Given the description of an element on the screen output the (x, y) to click on. 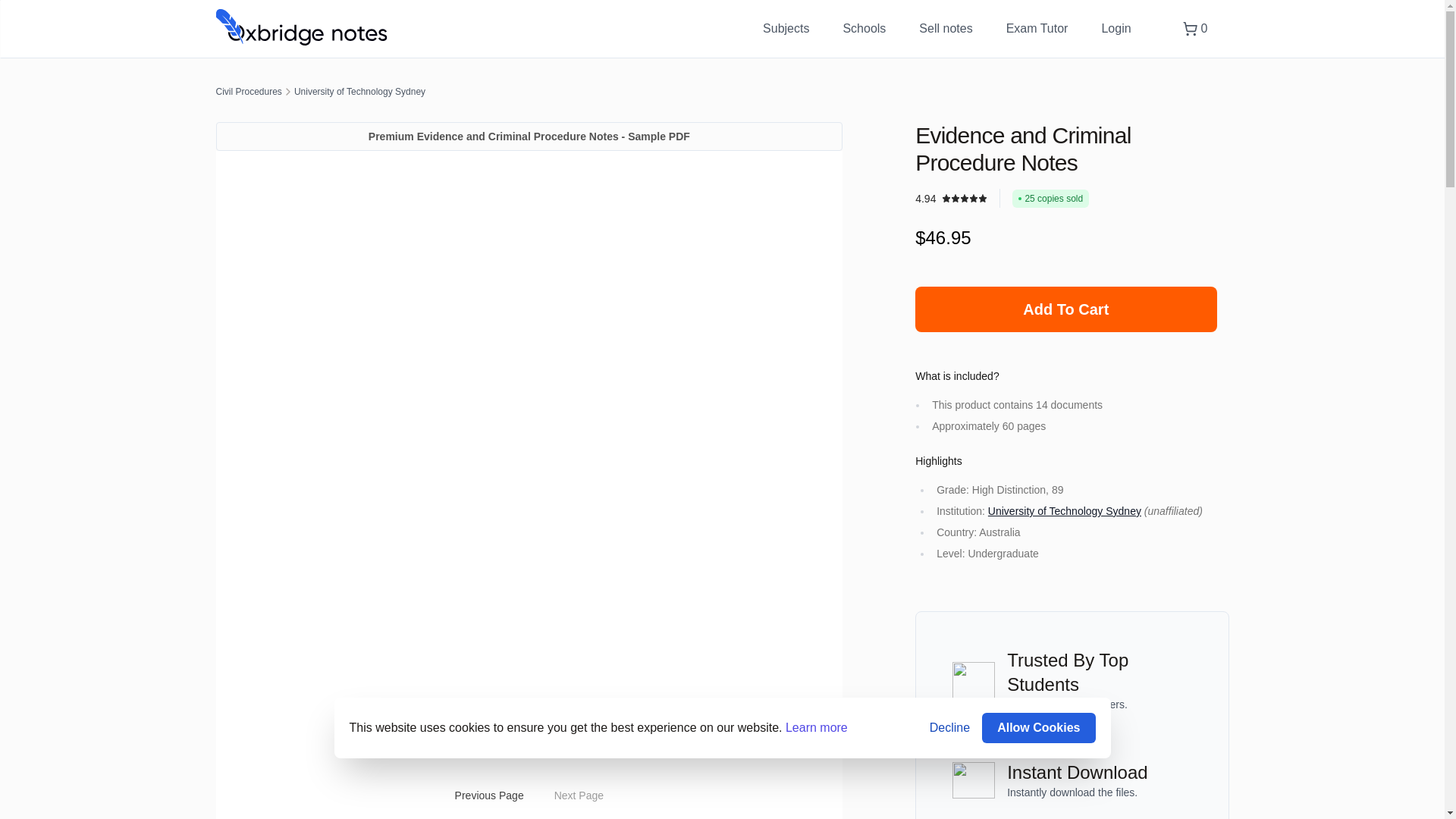
Schools (864, 28)
Sell notes (945, 28)
University of Technology Sydney (359, 91)
Previous Page (488, 795)
0 (1195, 28)
Exam Tutor (1037, 28)
Learn more (816, 727)
Subjects (785, 28)
Decline (949, 728)
Civil Procedures (248, 91)
